Given the description of an element on the screen output the (x, y) to click on. 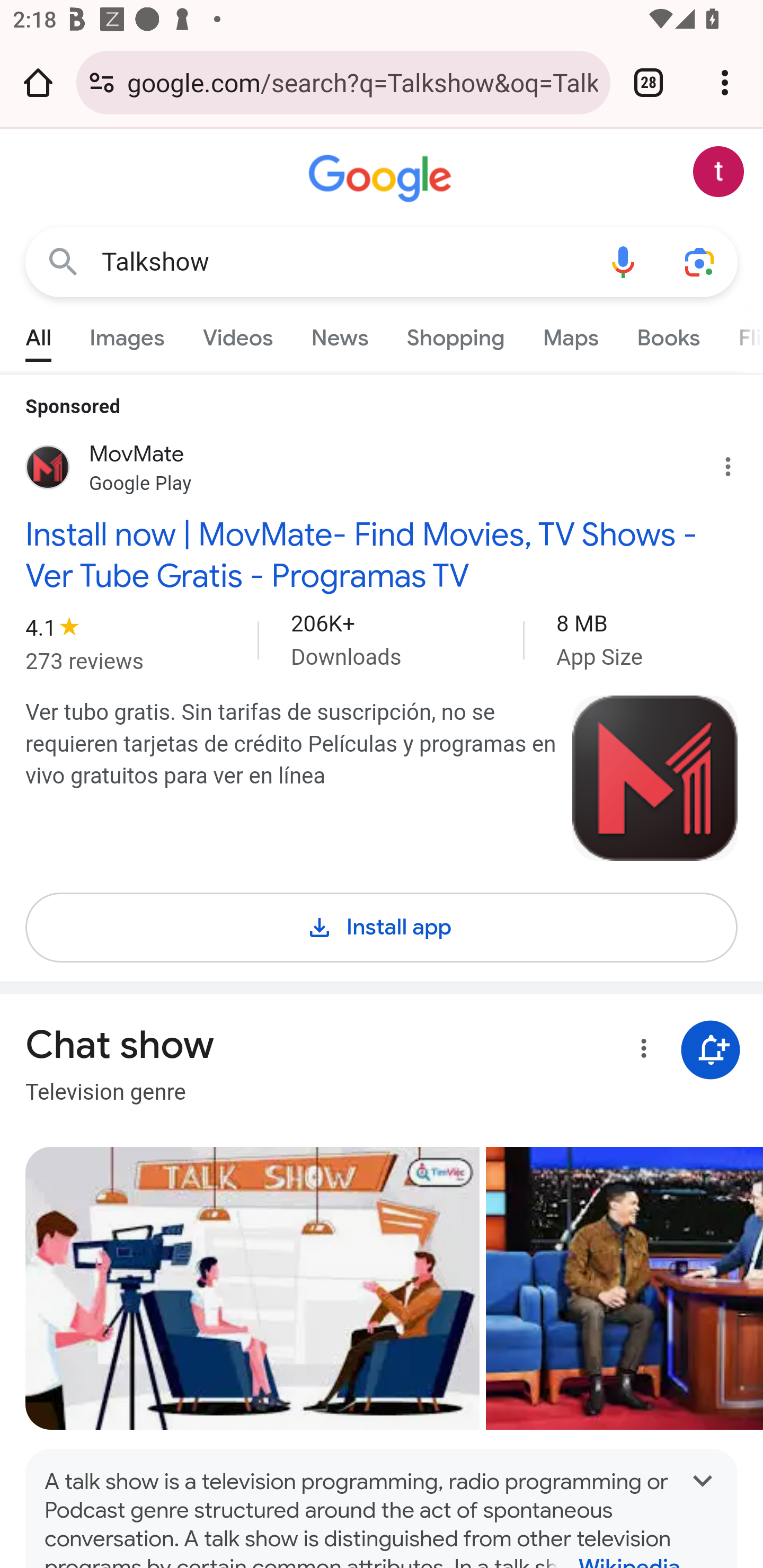
Open the home page (38, 82)
Connection is secure (101, 82)
Switch or close tabs (648, 82)
Customize and control Google Chrome (724, 82)
Google (381, 179)
Google Search (63, 262)
Search using your camera or photos (699, 262)
Talkshow (343, 261)
Images (127, 333)
Videos (237, 333)
News (338, 333)
Shopping (455, 333)
Maps (570, 333)
Books (668, 333)
Flights (740, 333)
Why this ad? (738, 462)
Image from google.com (654, 777)
Install app (381, 924)
Get notifications about Chat show (710, 1050)
More options (640, 1051)
